Given the description of an element on the screen output the (x, y) to click on. 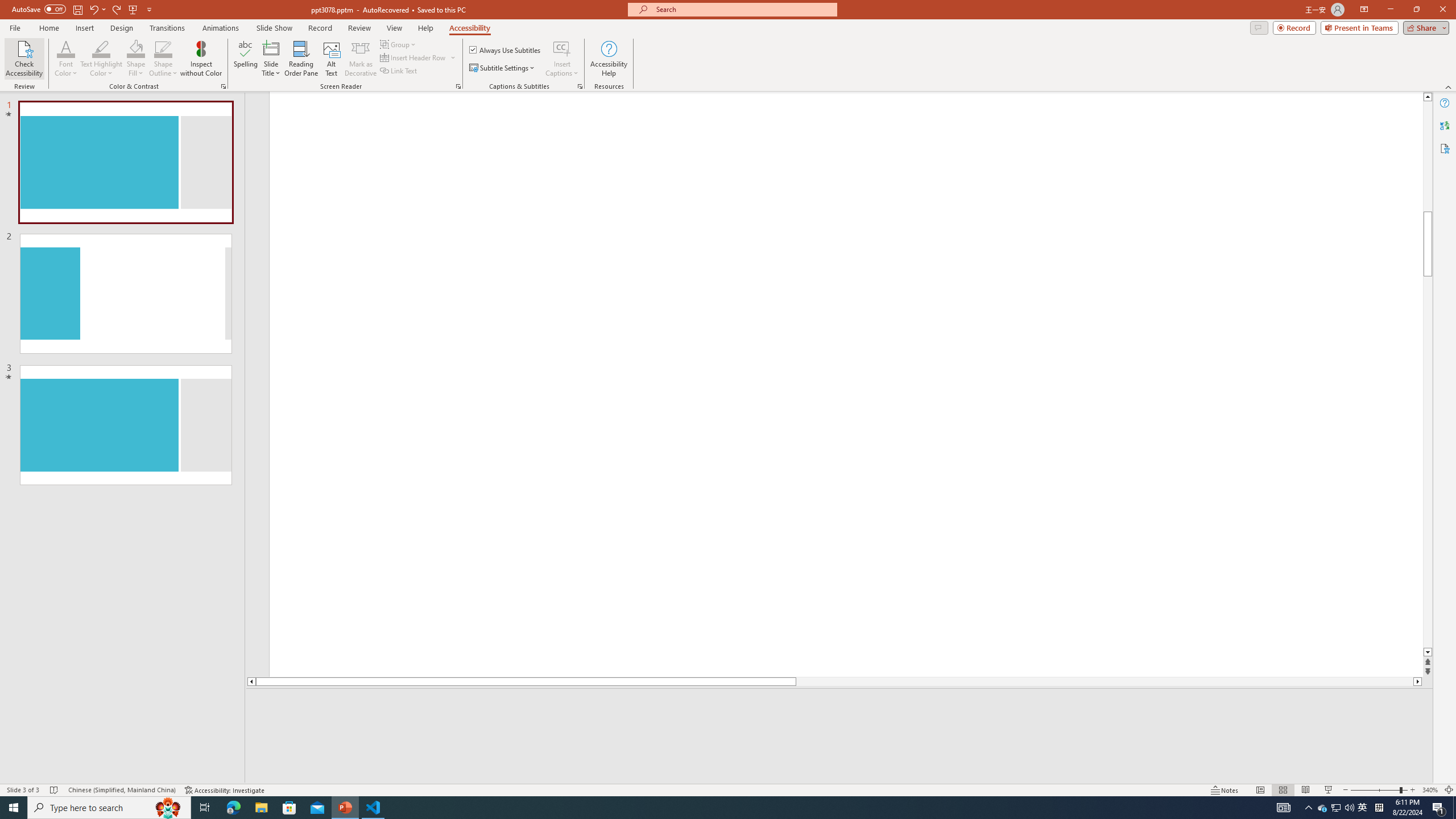
Mark as Decorative (360, 58)
